Given the description of an element on the screen output the (x, y) to click on. 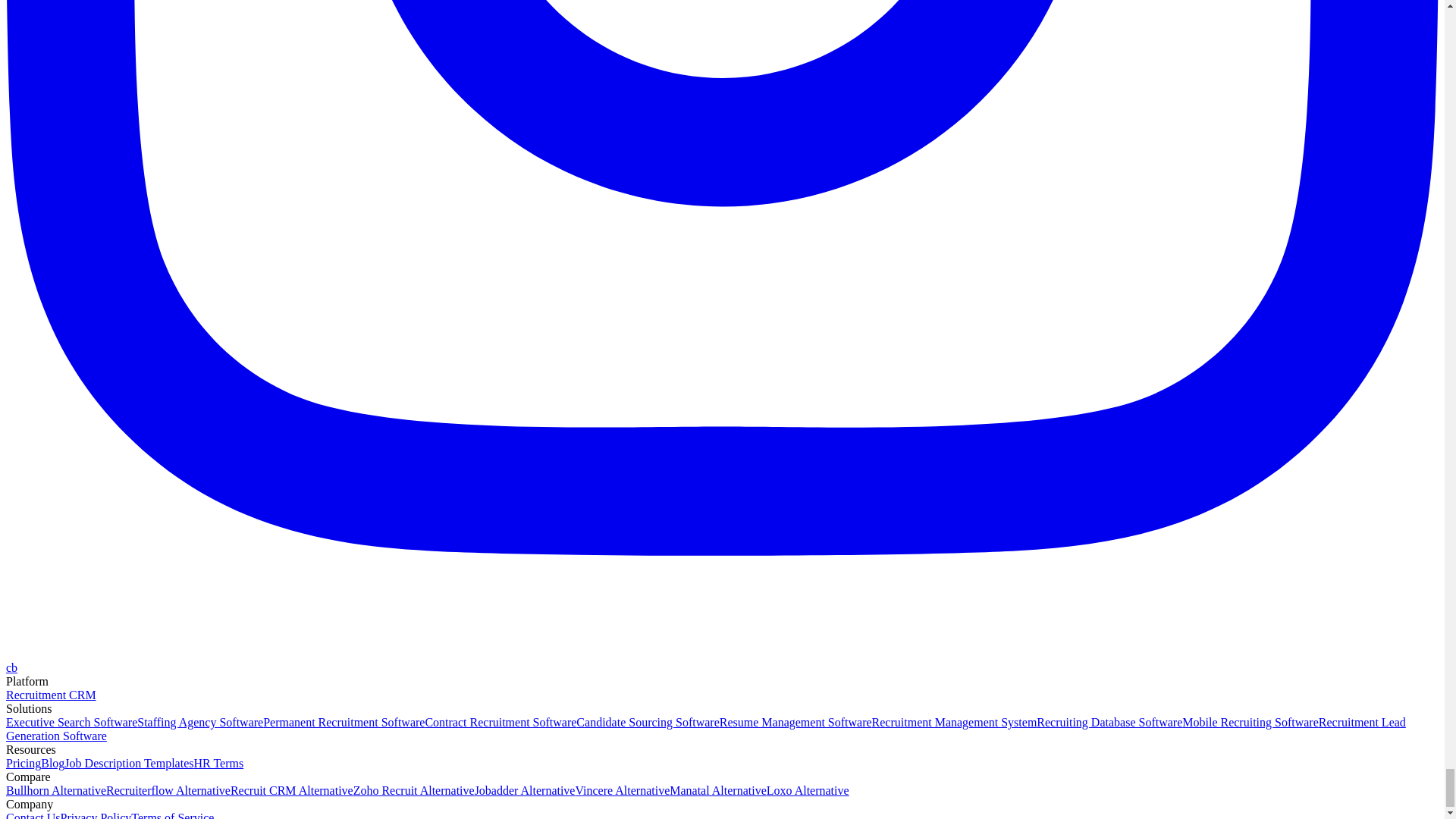
Contract Recruitment Software (500, 721)
Resume Management Software (795, 721)
Executive Search Software (70, 721)
Permanent Recruitment Software (344, 721)
Recruitment Lead Generation Software (705, 728)
Recruiting Database Software (1109, 721)
Recruitment CRM (50, 694)
Recruitment Management System (954, 721)
Candidate Sourcing Software (647, 721)
Staffing Agency Software (199, 721)
